Given the description of an element on the screen output the (x, y) to click on. 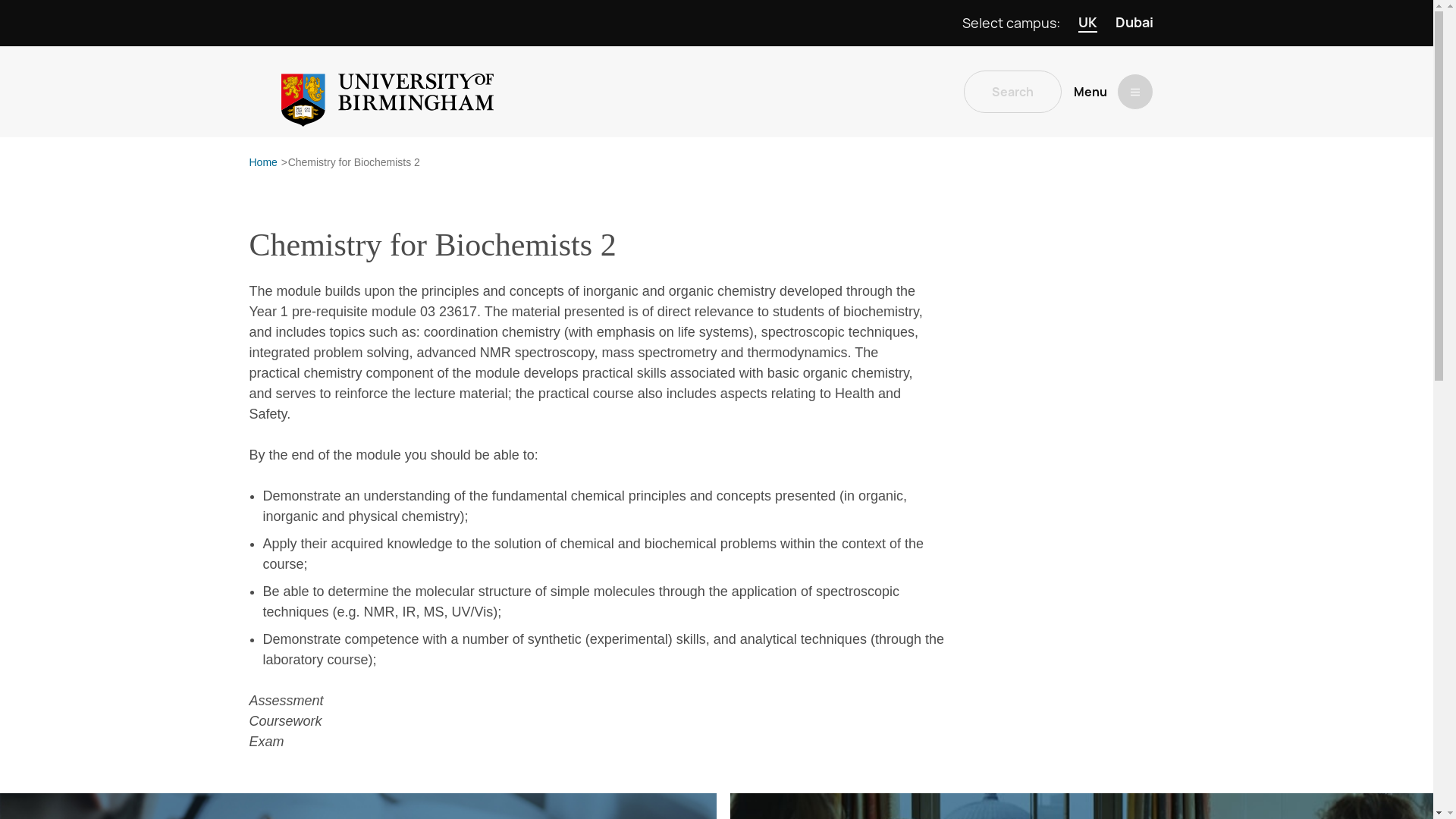
Search (1012, 91)
Chemistry for Biochemists 2 (354, 162)
Home (262, 162)
UK (1087, 23)
Dubai (1134, 23)
